Given the description of an element on the screen output the (x, y) to click on. 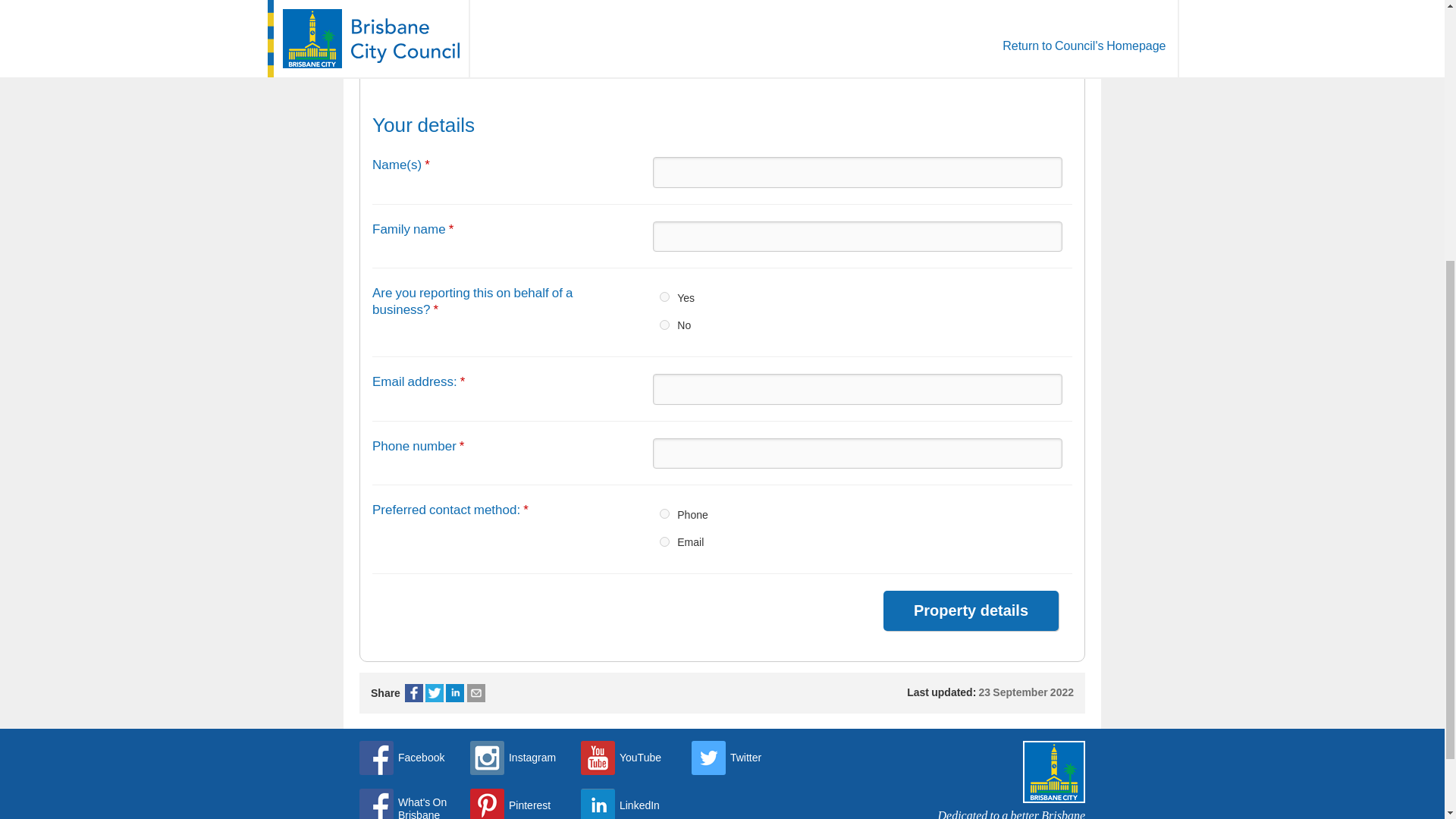
Share on Facebook (413, 692)
Instagram (513, 757)
Share this on Twitter (434, 692)
Twitter (434, 692)
Publish this post to LinkedIn (454, 692)
Property details (970, 610)
Share this page via email (475, 692)
Yes (664, 296)
No (664, 325)
Facebook (413, 692)
